Given the description of an element on the screen output the (x, y) to click on. 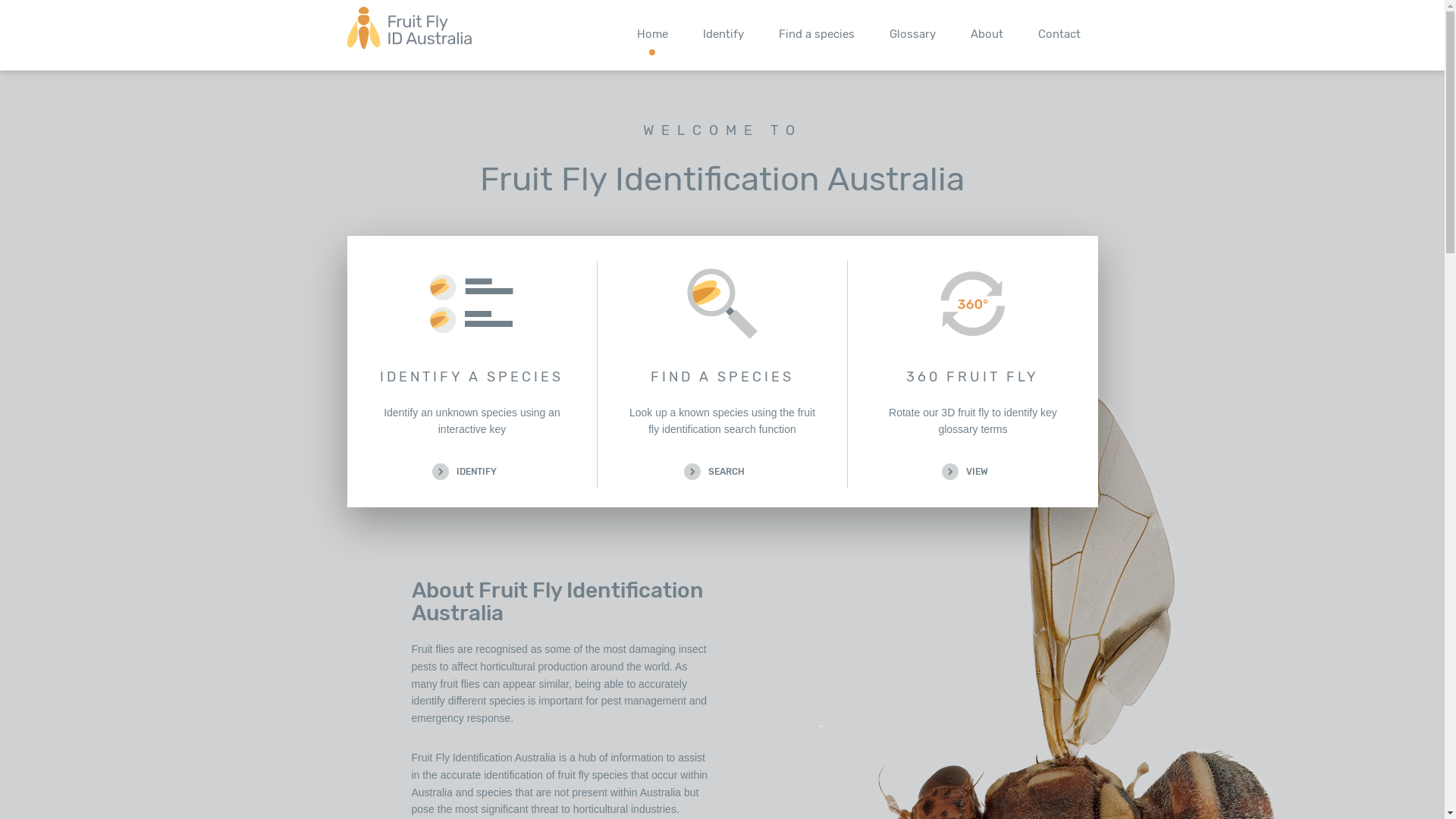
Identify Element type: text (723, 35)
Home Element type: text (651, 35)
Glossary Element type: text (912, 35)
Contact Element type: text (1059, 35)
About Element type: text (985, 35)
Find a species Element type: text (816, 35)
